Given the description of an element on the screen output the (x, y) to click on. 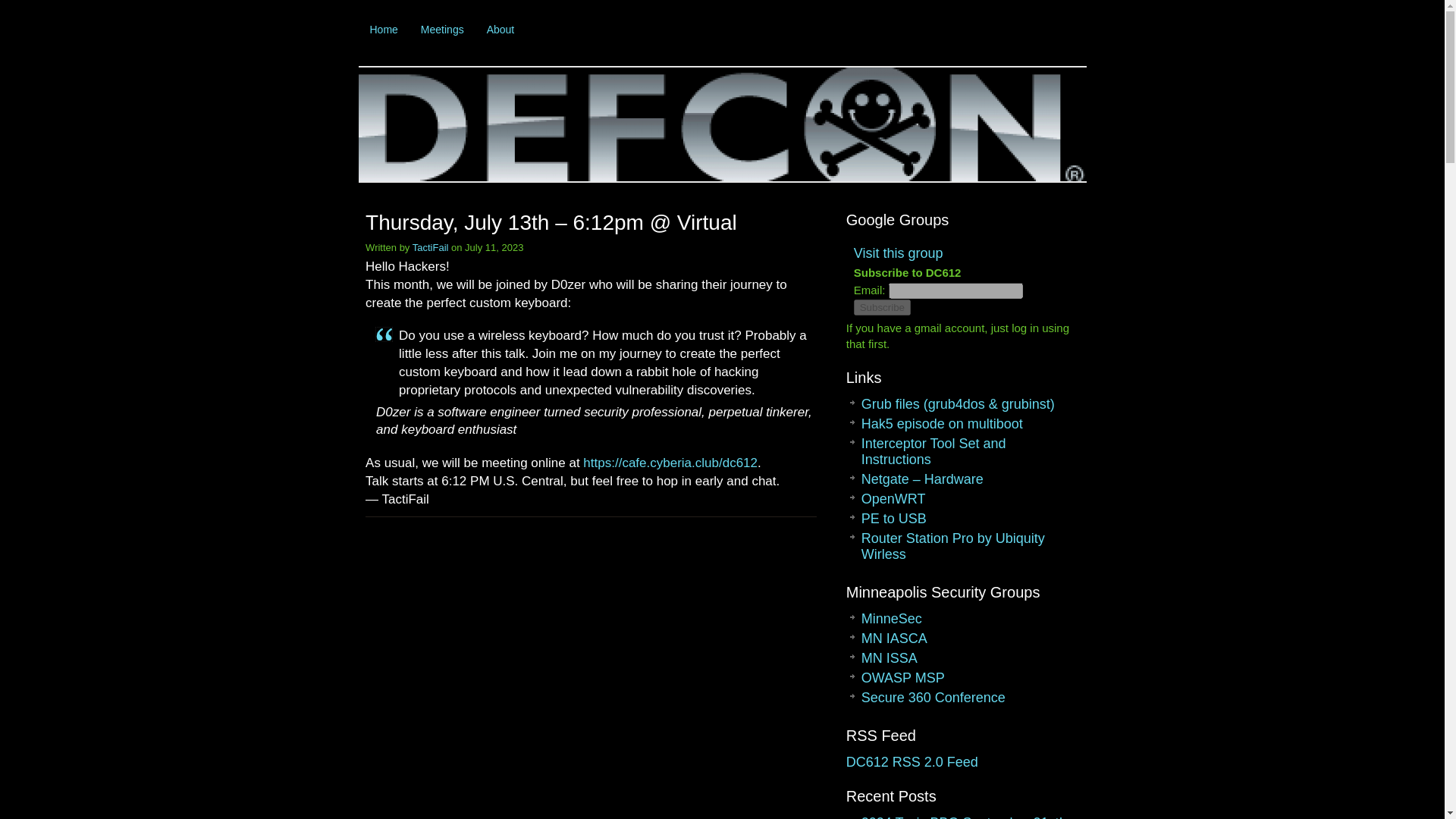
Secure 360 Conference (933, 697)
Minnesota Information Systems Audit and Control Association (894, 638)
The place to aquire cool hardware, wifi tools, etc. (922, 478)
MN IASCA (894, 638)
Visit this group (898, 253)
OWASP MSP (902, 677)
MN ISSA (889, 657)
Subscribe (882, 307)
DC612 RSS 2.0 Feed (911, 761)
About (500, 28)
Files for usb multiboot (893, 518)
The Operating system that runs the Router Station Pro (893, 498)
OpenWRT (893, 498)
Router Station Pro by Ubiquity Wirless (953, 545)
Home (383, 28)
